Given the description of an element on the screen output the (x, y) to click on. 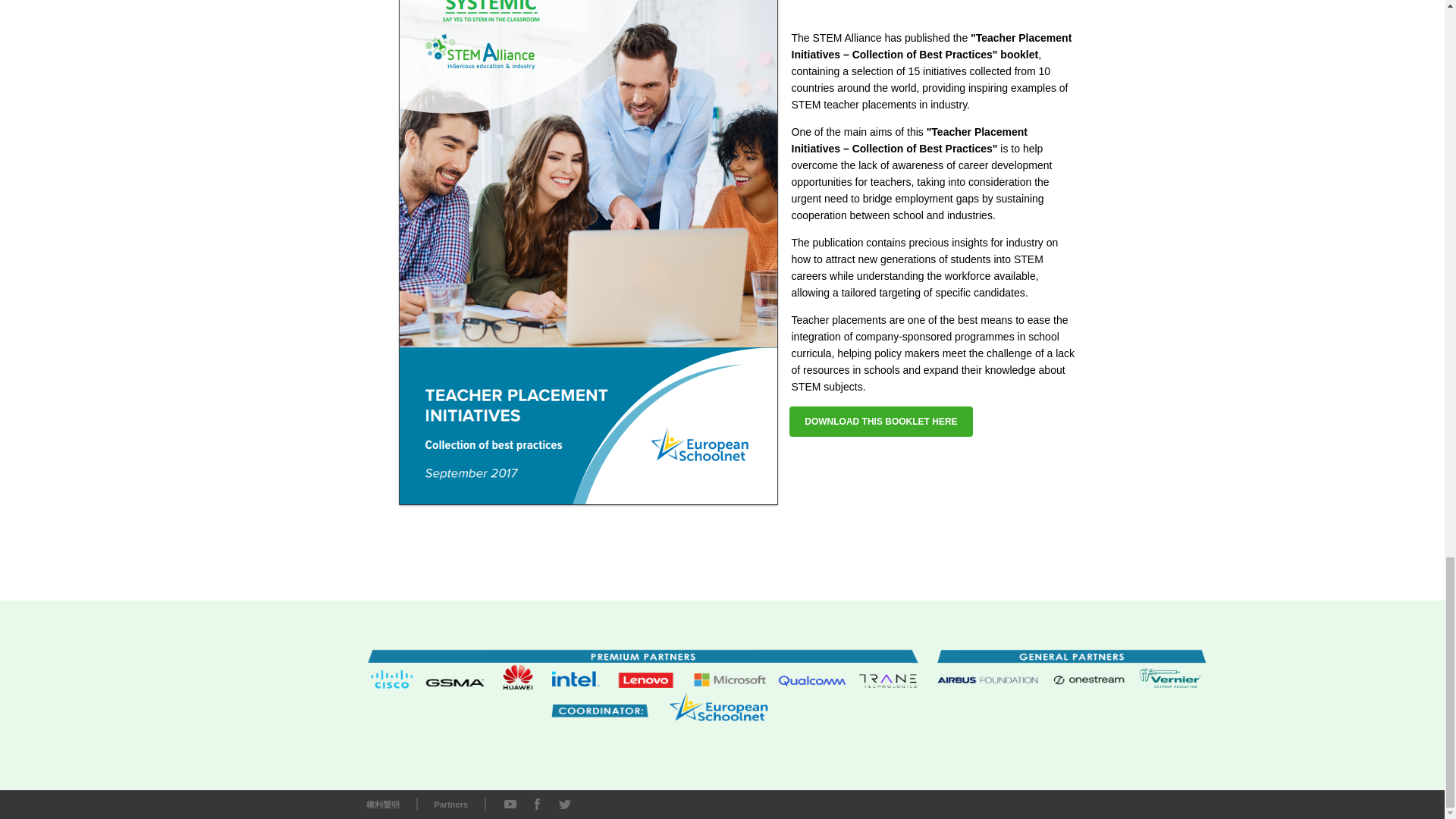
DOWNLOAD THIS BOOKLET HERE (880, 421)
